Given the description of an element on the screen output the (x, y) to click on. 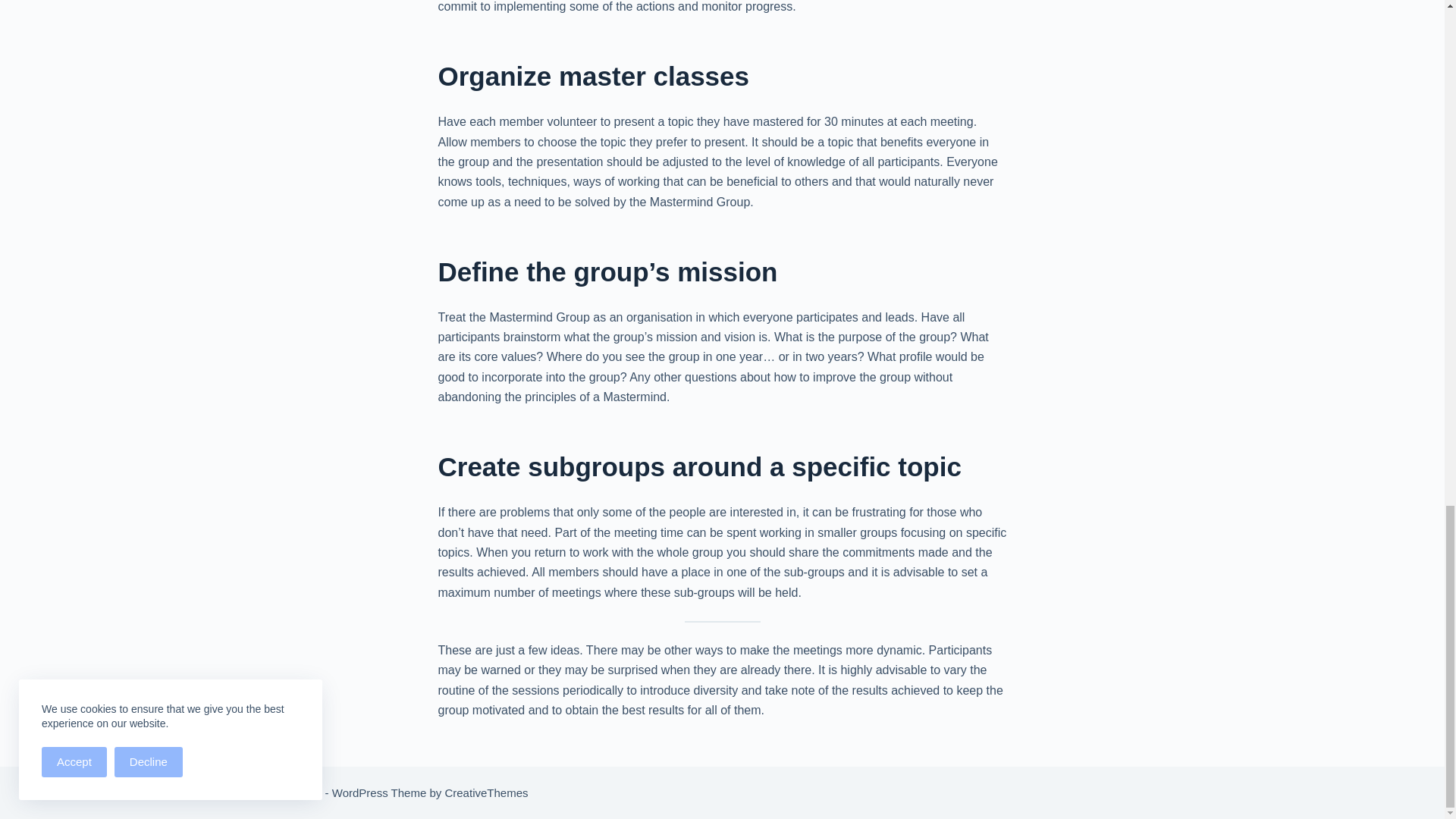
CreativeThemes (485, 792)
